Given the description of an element on the screen output the (x, y) to click on. 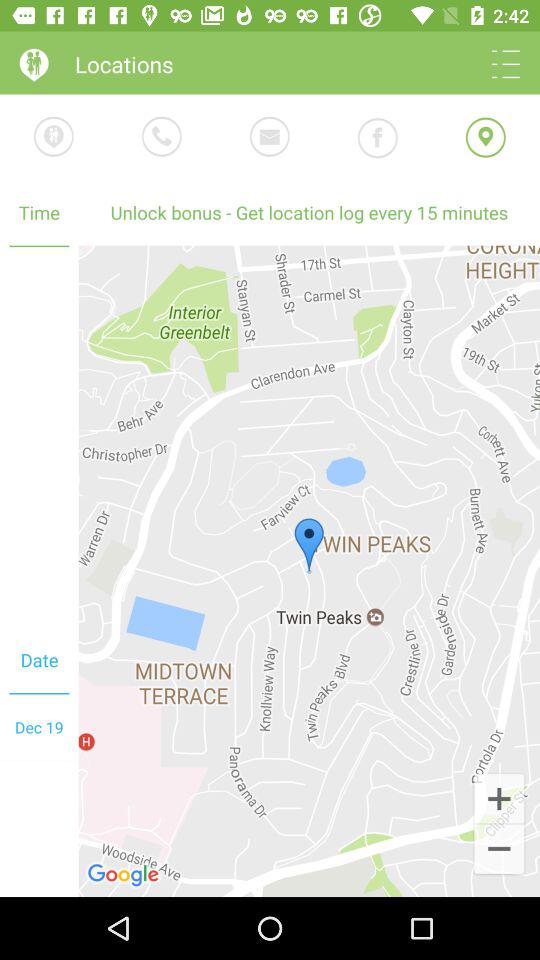
turn off item next to unlock bonus get item (39, 437)
